Given the description of an element on the screen output the (x, y) to click on. 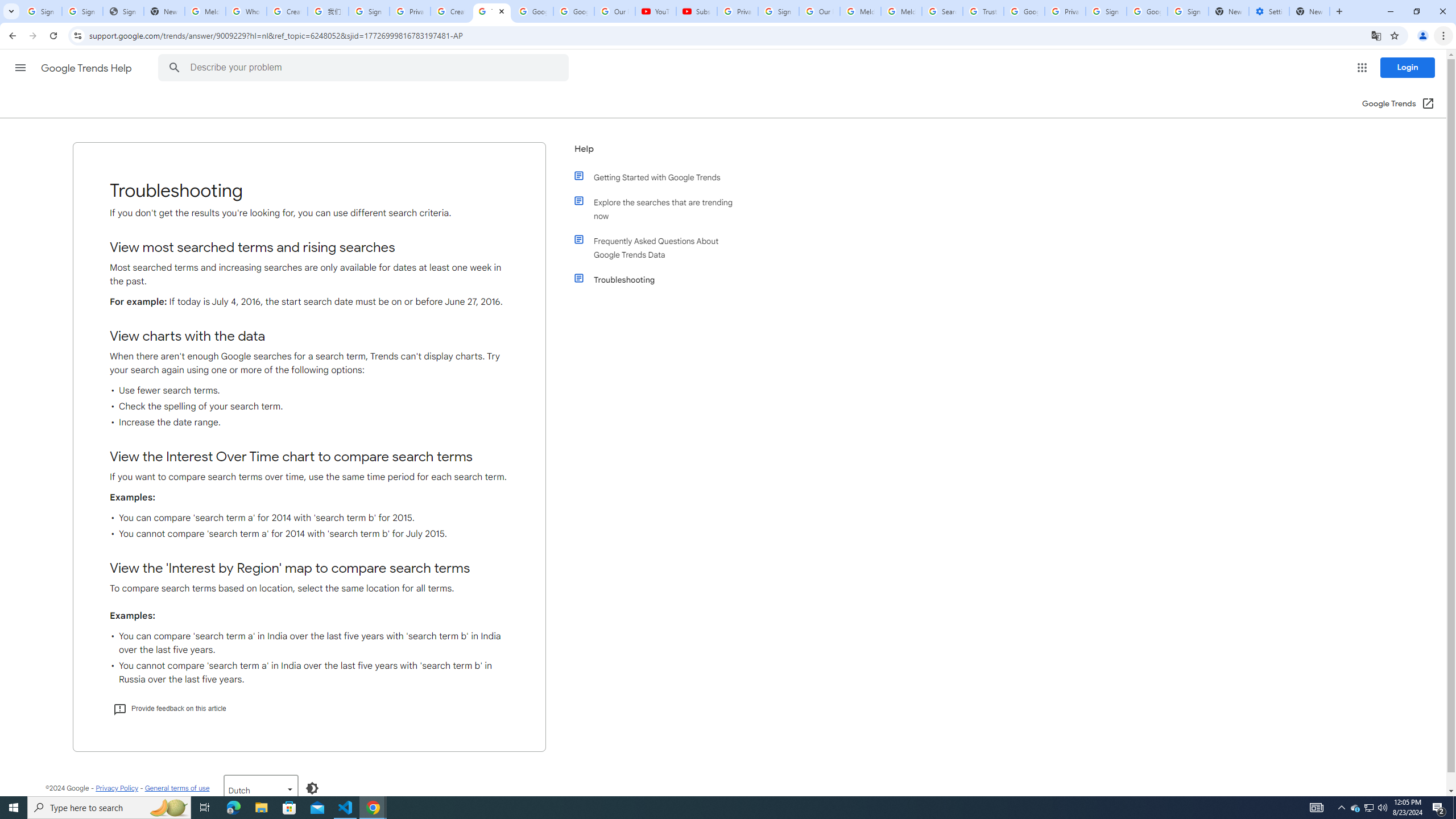
Sign in - Google Accounts (41, 11)
Login (1407, 67)
Google Trends (Opens in new window) (1398, 103)
Provide feedback on this article (169, 708)
Explore the searches that are trending now (661, 209)
New Tab (1309, 11)
